Given the description of an element on the screen output the (x, y) to click on. 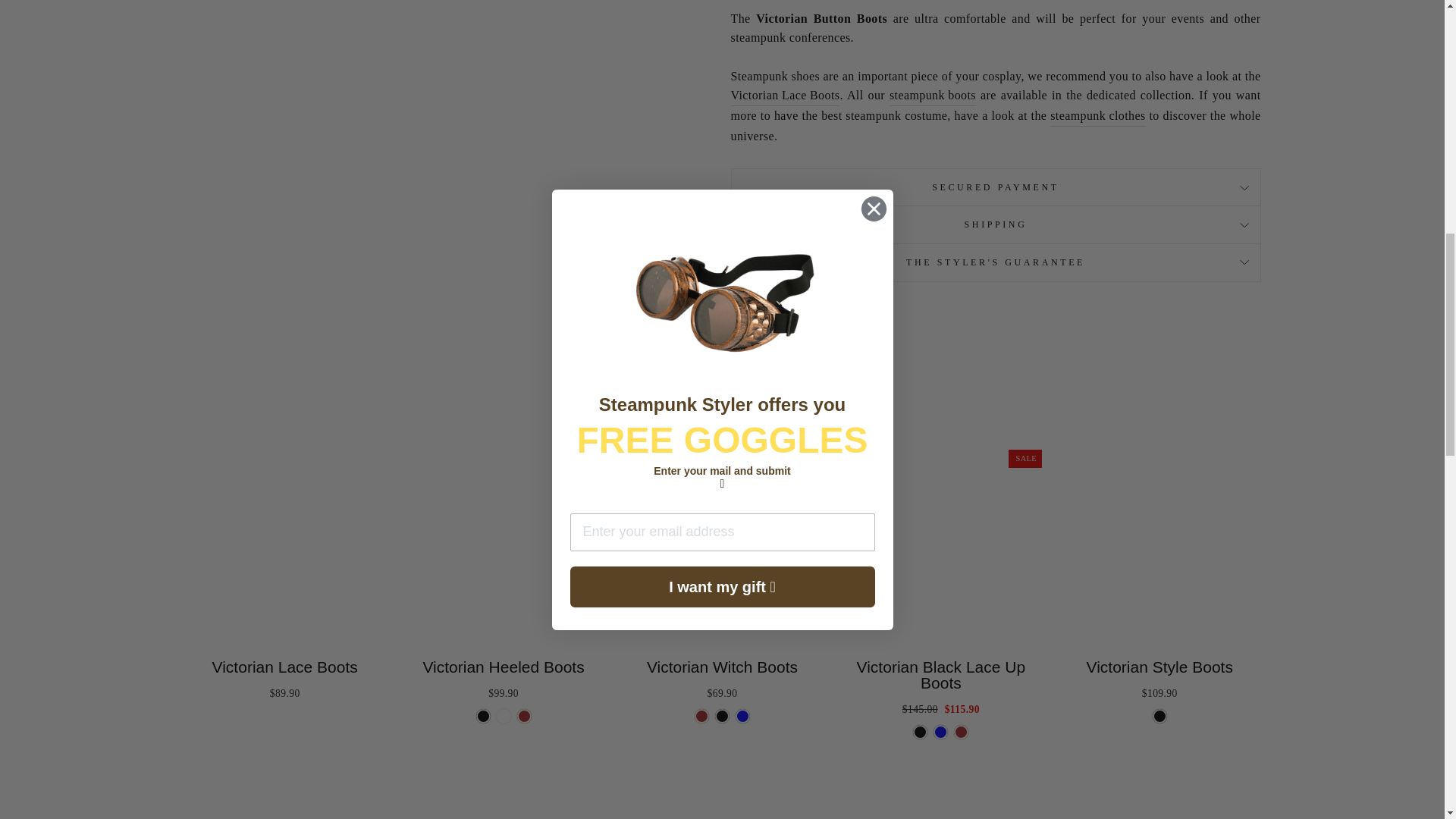
Steampunk clothes (1096, 116)
Steampunk boots (932, 95)
Victorian Lace Boots (785, 95)
